Given the description of an element on the screen output the (x, y) to click on. 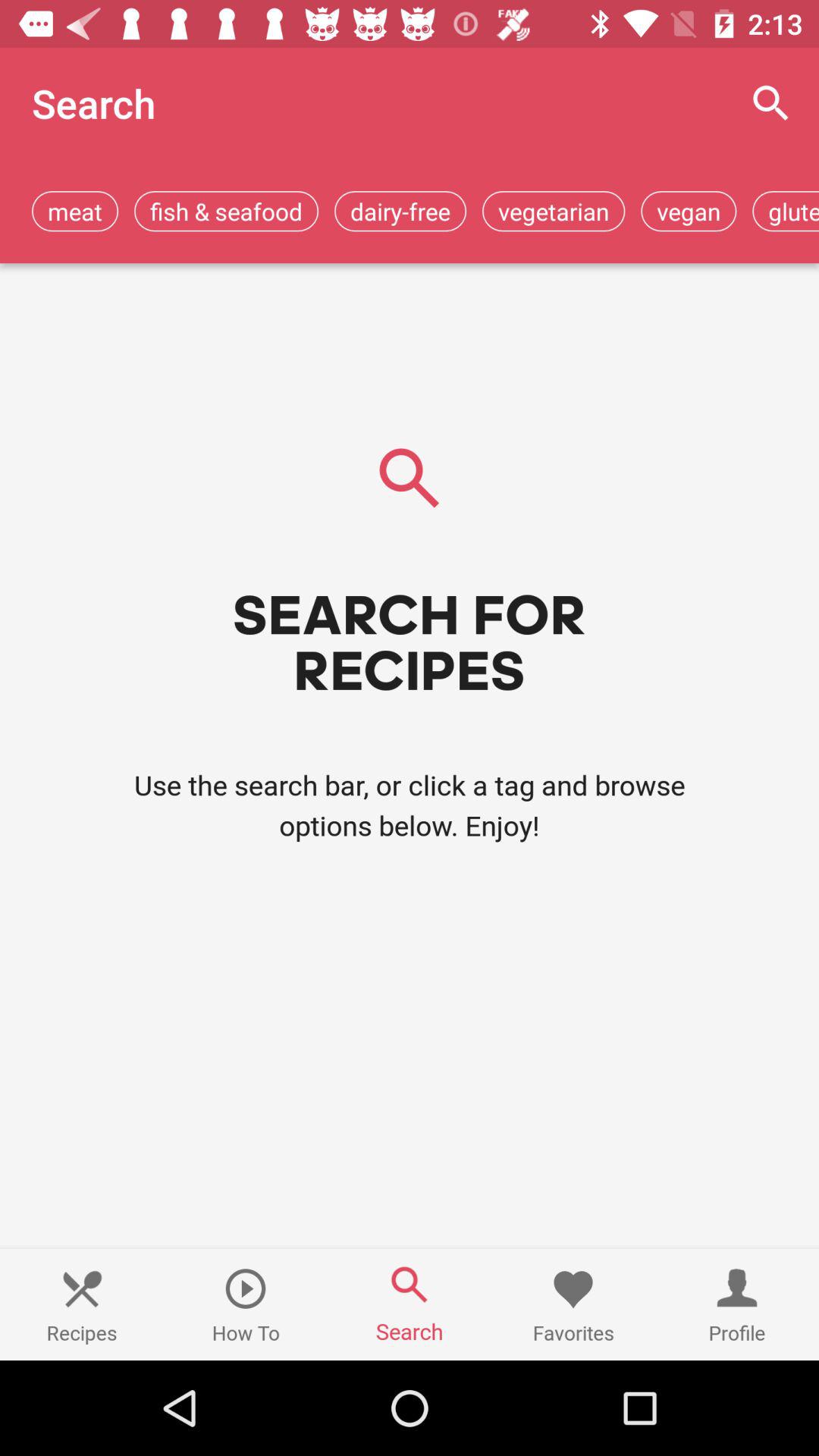
click the icon next to the gluten-free app (688, 211)
